Given the description of an element on the screen output the (x, y) to click on. 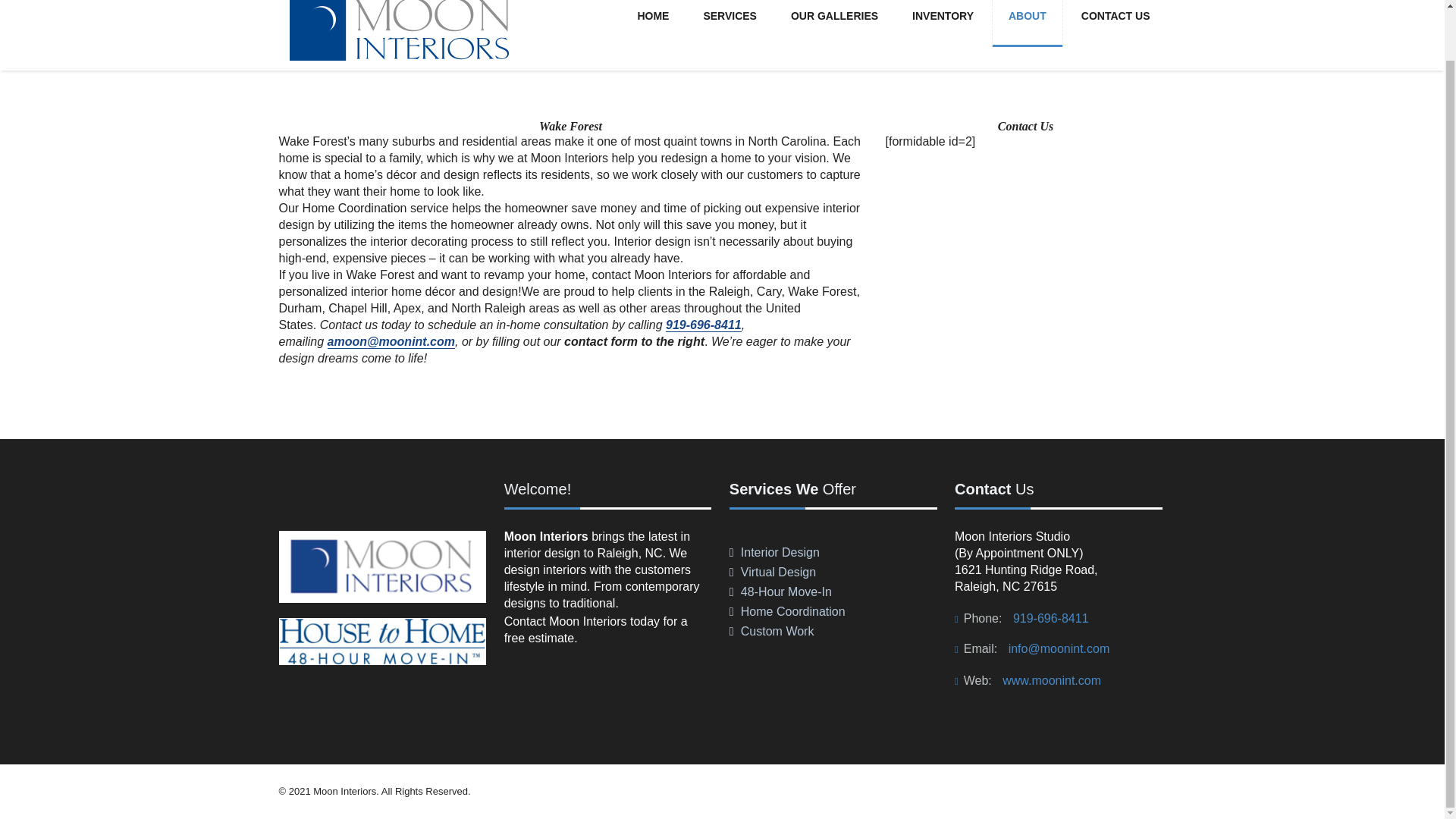
OUR GALLERIES (833, 23)
HOME (652, 23)
INVENTORY (943, 23)
Moon Interiors (399, 35)
Moon Interiors (399, 48)
SERVICES (730, 23)
ABOUT (1026, 23)
